Given the description of an element on the screen output the (x, y) to click on. 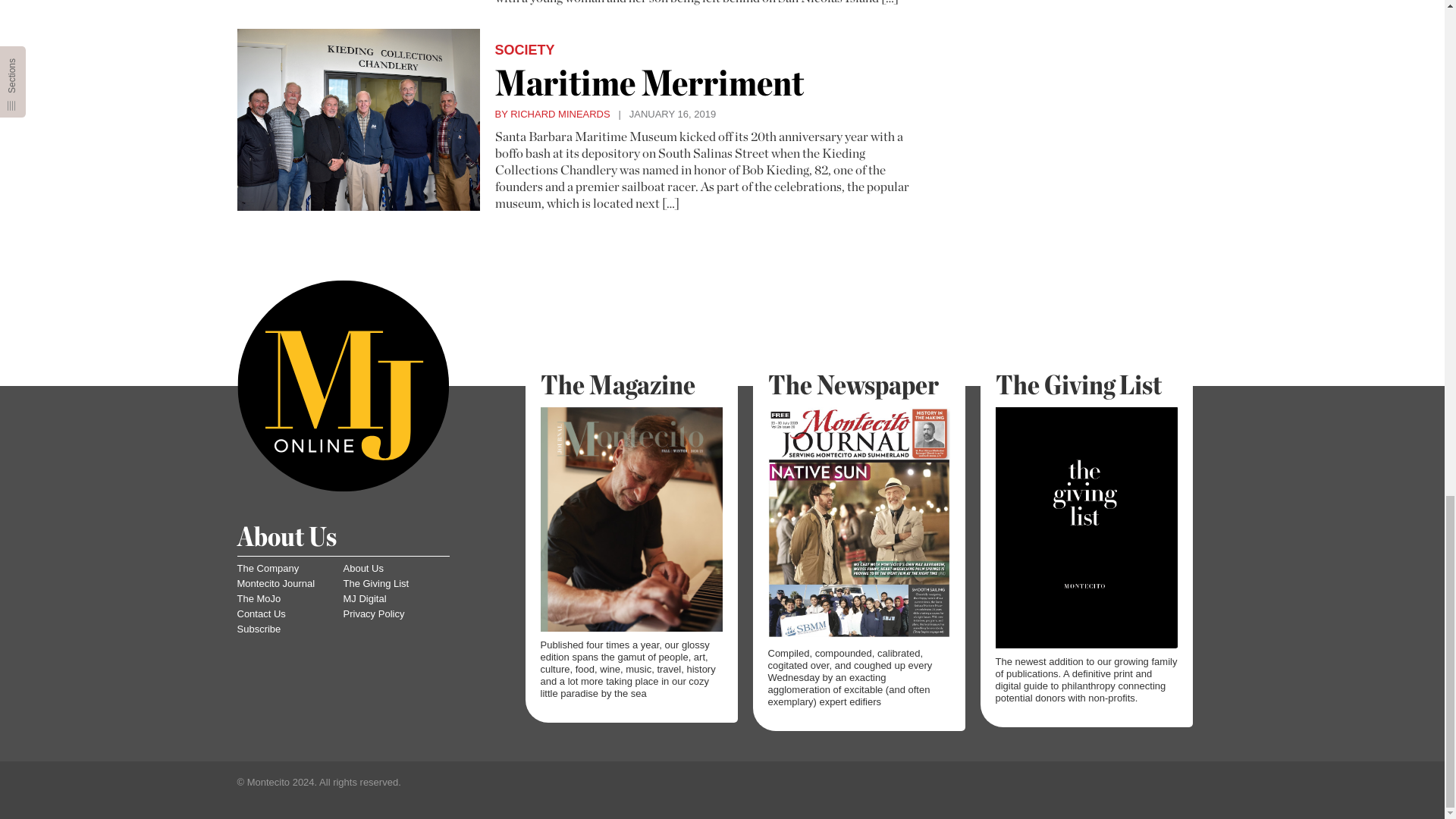
Richard Mineards (552, 113)
